Given the description of an element on the screen output the (x, y) to click on. 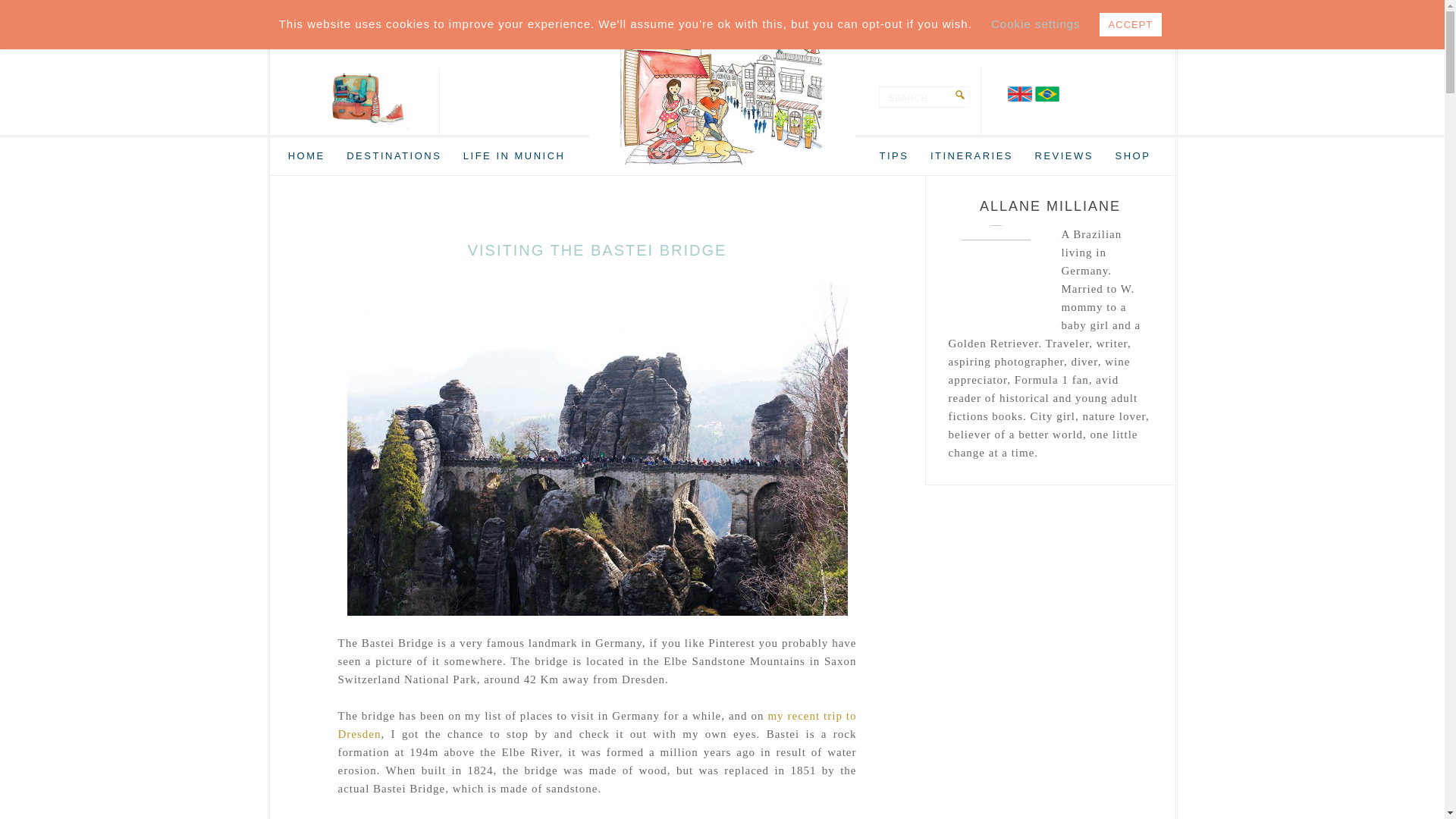
DESTINATIONS (393, 156)
HOME (306, 156)
PACKING MY SUITCASE (722, 91)
